Given the description of an element on the screen output the (x, y) to click on. 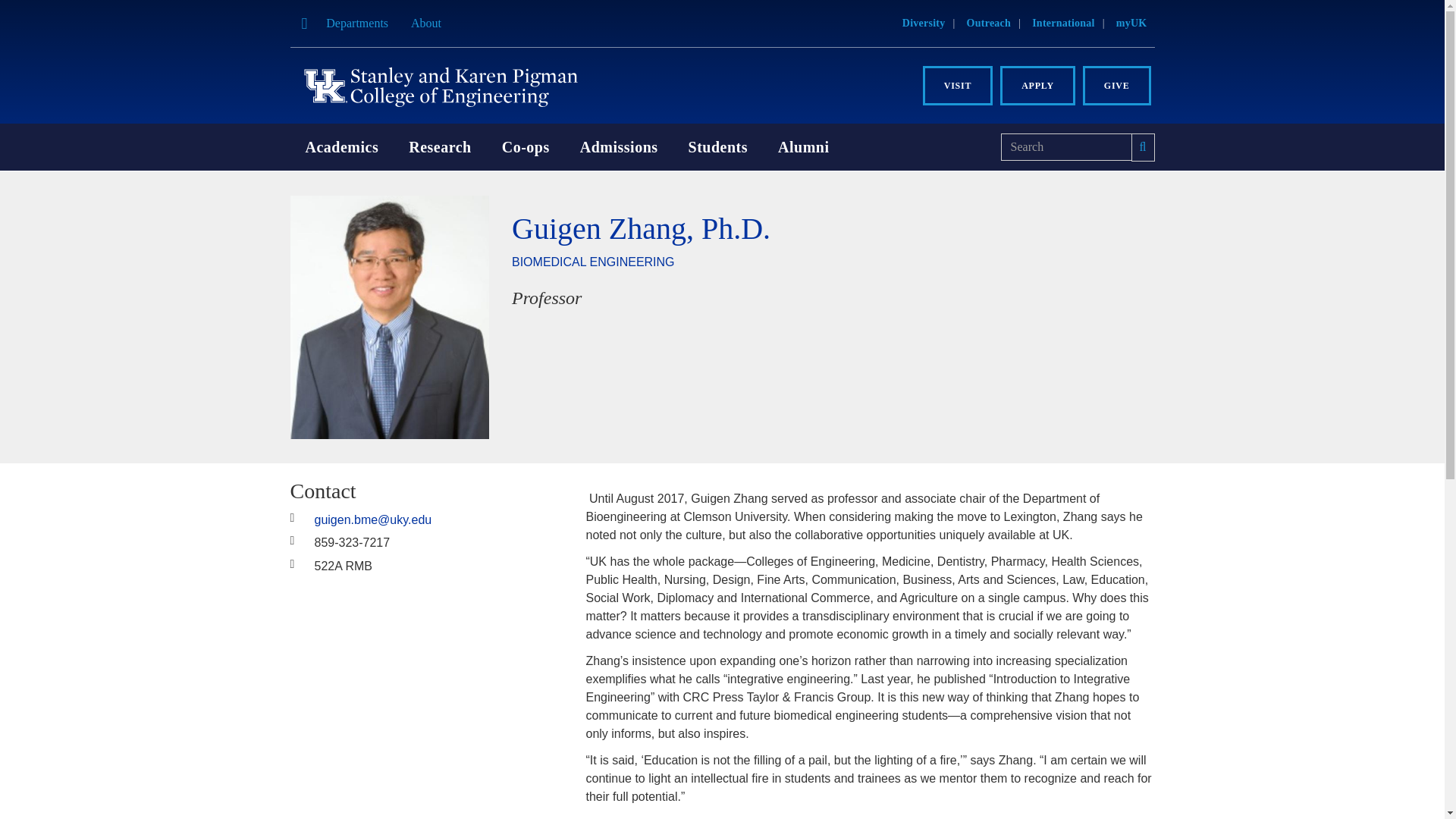
VISIT (957, 85)
Academics (341, 146)
Outreach (988, 23)
About (425, 22)
Departments (356, 22)
Enter the terms you wish to search for. (1066, 146)
APPLY (1037, 85)
International (1063, 23)
myUK (1131, 23)
